Given the description of an element on the screen output the (x, y) to click on. 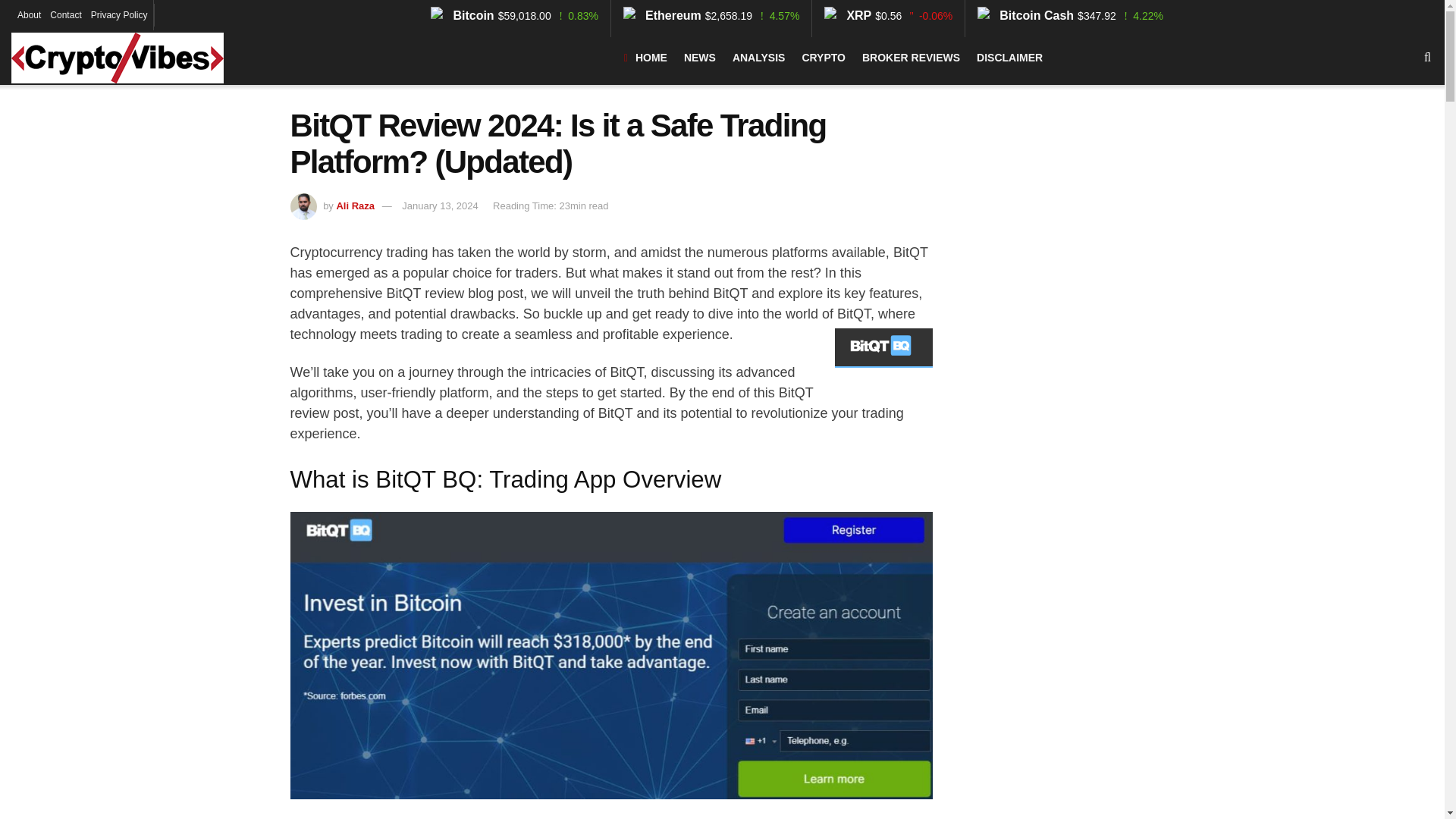
ANALYSIS (759, 57)
Bitcoin Cash (1026, 14)
Ethereum (663, 14)
BROKER REVIEWS (910, 57)
Ethereum (663, 14)
XRP (849, 14)
XRP (849, 14)
Contact (65, 15)
Privacy Policy (119, 15)
Bitcoin Cash (1026, 14)
